Given the description of an element on the screen output the (x, y) to click on. 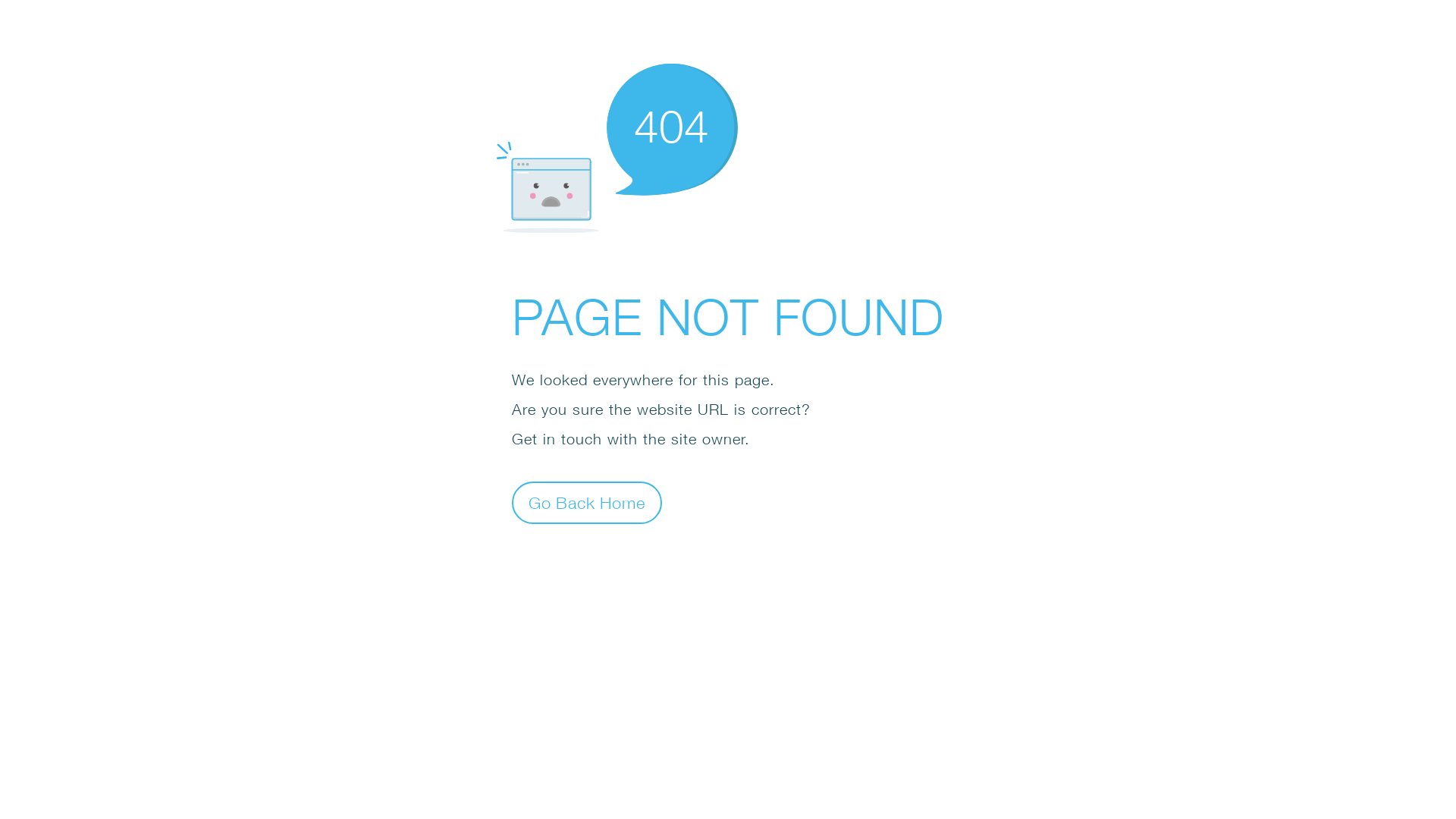
Go Back Home Element type: text (586, 502)
